Given the description of an element on the screen output the (x, y) to click on. 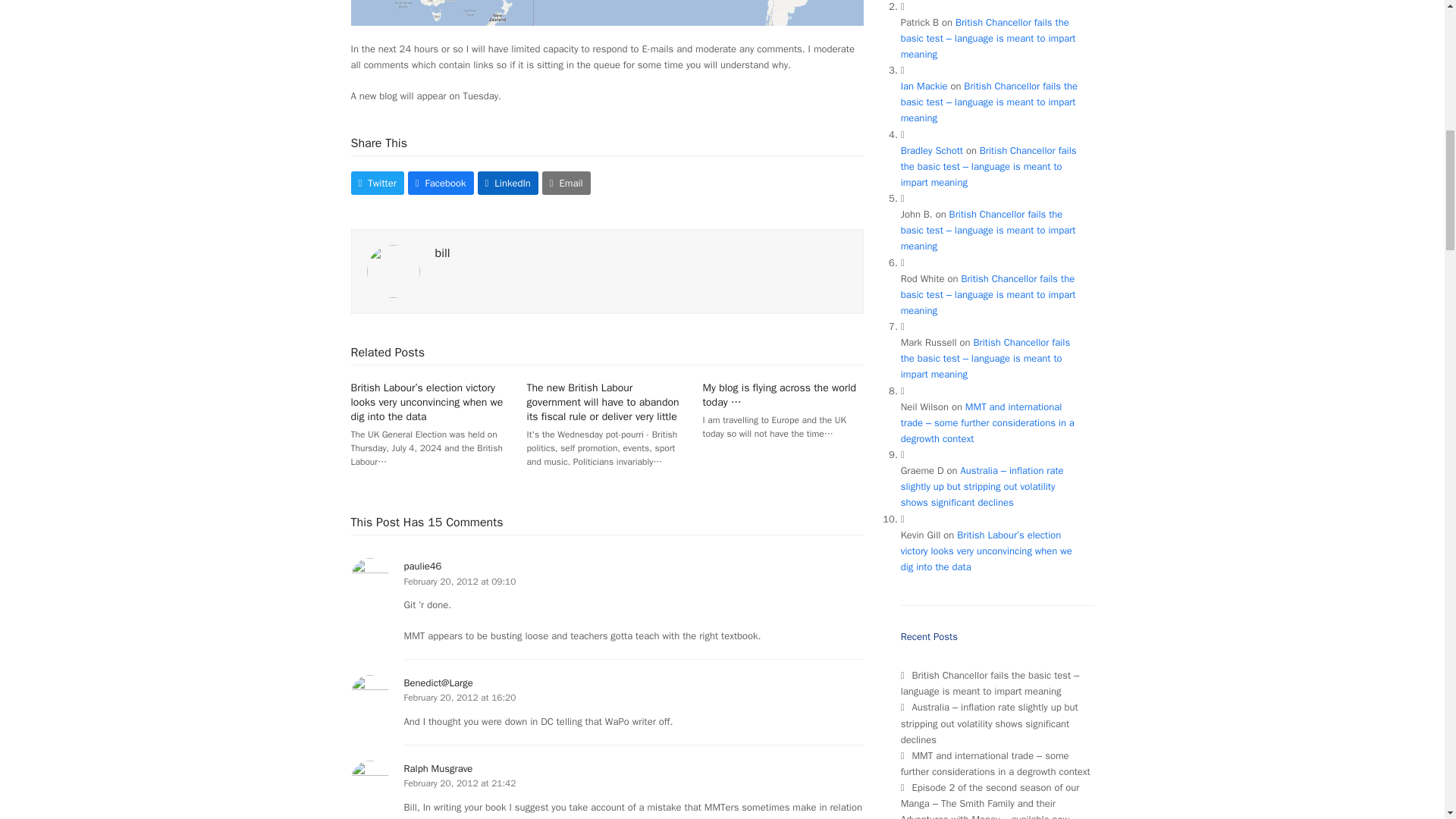
Facebook (440, 182)
LinkedIn (507, 182)
Ralph Musgrave (437, 768)
Visit Author Page (442, 253)
February 20, 2012 at 21:42 (459, 783)
February 20, 2012 at 09:10 (459, 581)
bill (442, 253)
Visit Author Page (393, 269)
February 20, 2012 at 16:20 (459, 697)
Twitter (376, 182)
Email (566, 182)
